Given the description of an element on the screen output the (x, y) to click on. 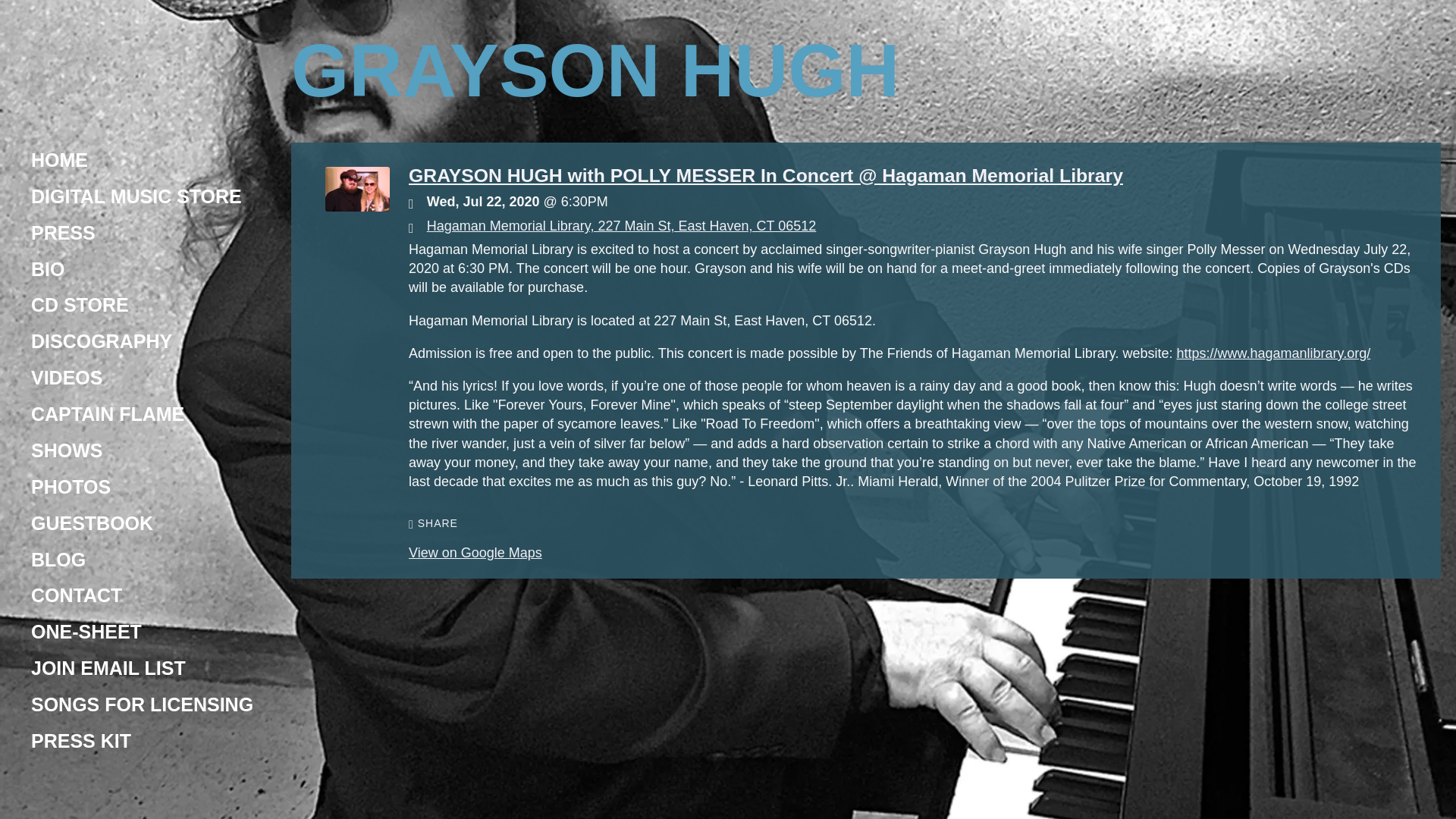
PHOTOS (70, 486)
GRAYSON HUGH (595, 88)
CONTACT (75, 594)
ONE-SHEET (86, 631)
DISCOGRAPHY (101, 340)
BLOG (57, 559)
HOME (59, 159)
PRESS (62, 232)
VIDEOS (66, 377)
DIGITAL MUSIC STORE (135, 195)
JOIN EMAIL LIST (108, 667)
BIO (47, 268)
CD STORE (79, 304)
CAPTAIN FLAME  (110, 413)
SHOWS (66, 450)
